Given the description of an element on the screen output the (x, y) to click on. 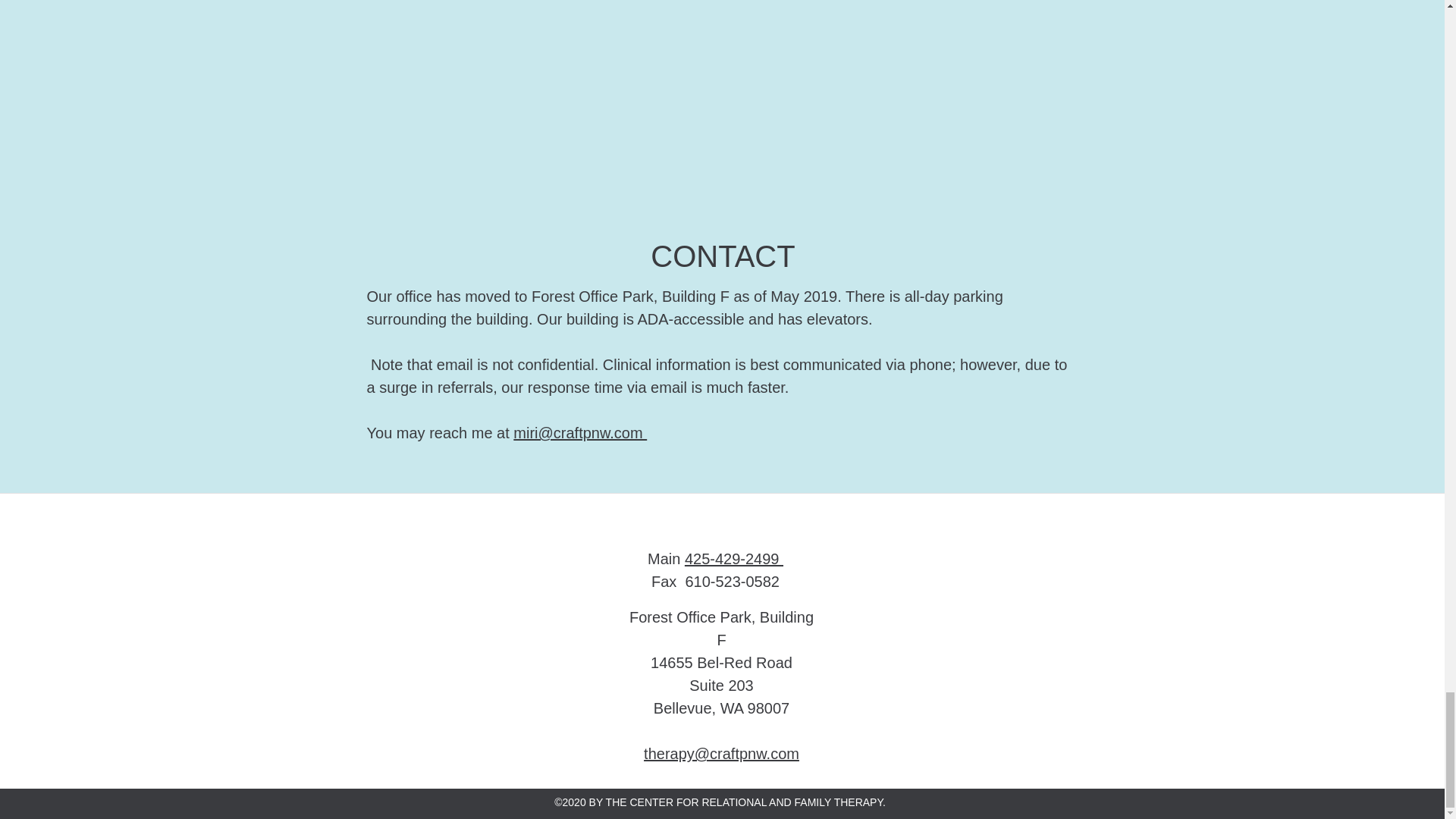
425-429-2499  (733, 558)
